Given the description of an element on the screen output the (x, y) to click on. 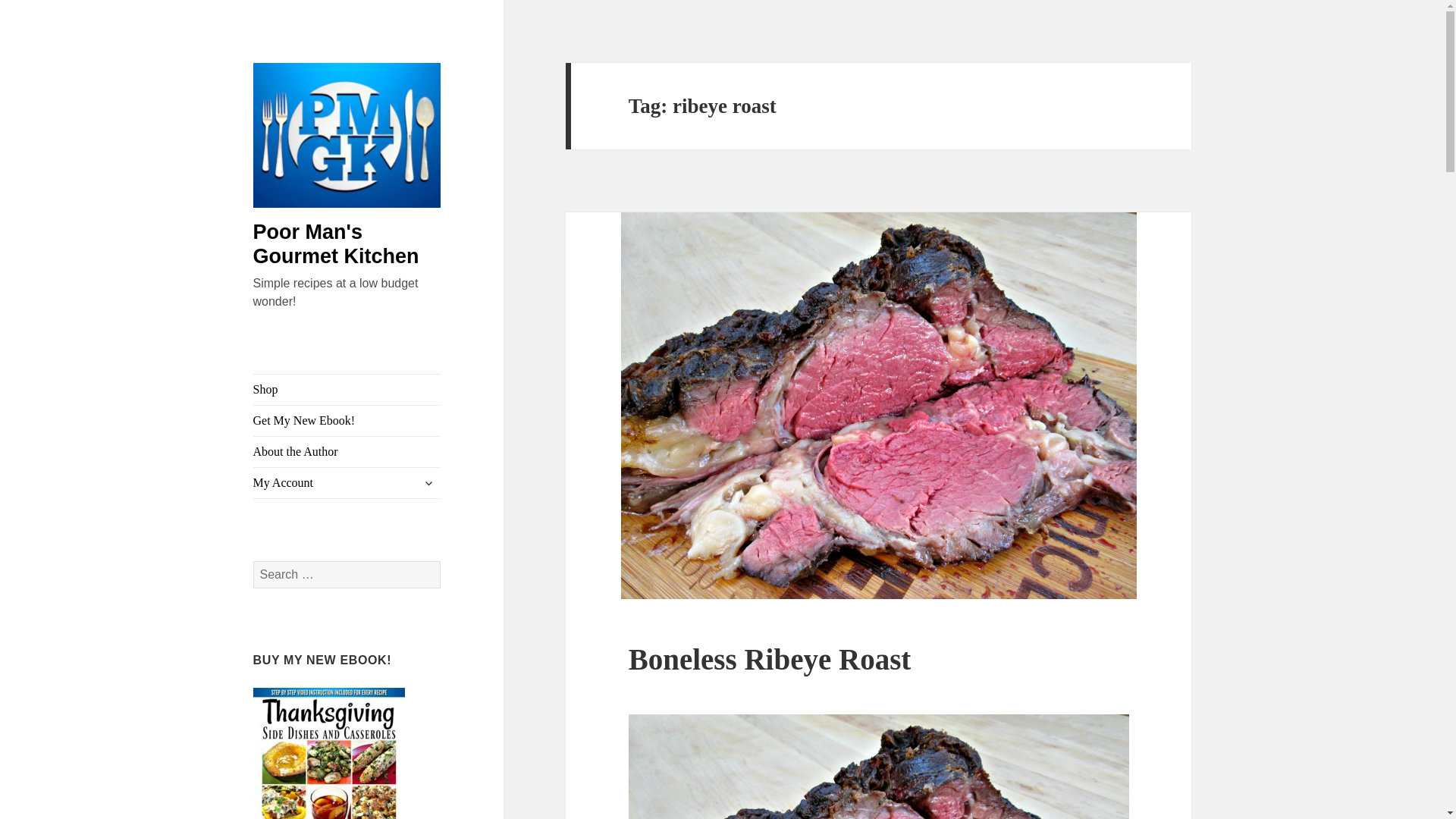
Boneless Ribeye Roast (769, 658)
Poor Man's Gourmet Kitchen (336, 243)
About the Author (347, 451)
Get My New Ebook! (347, 420)
Shop (347, 389)
My Account (347, 482)
expand child menu (428, 482)
